Given the description of an element on the screen output the (x, y) to click on. 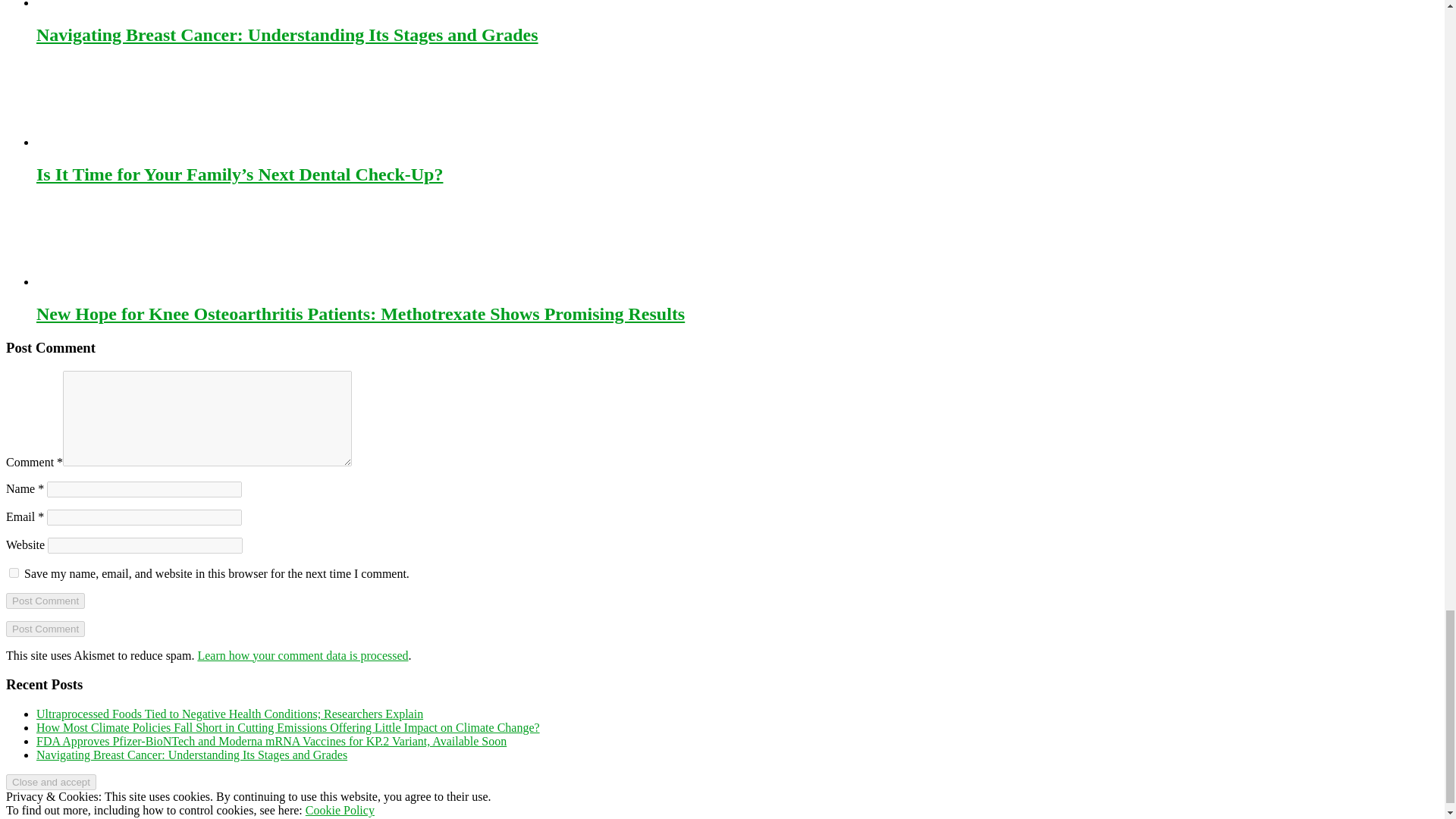
yes (13, 573)
Close and accept (50, 781)
Post Comment (44, 600)
Post Comment (44, 628)
